Given the description of an element on the screen output the (x, y) to click on. 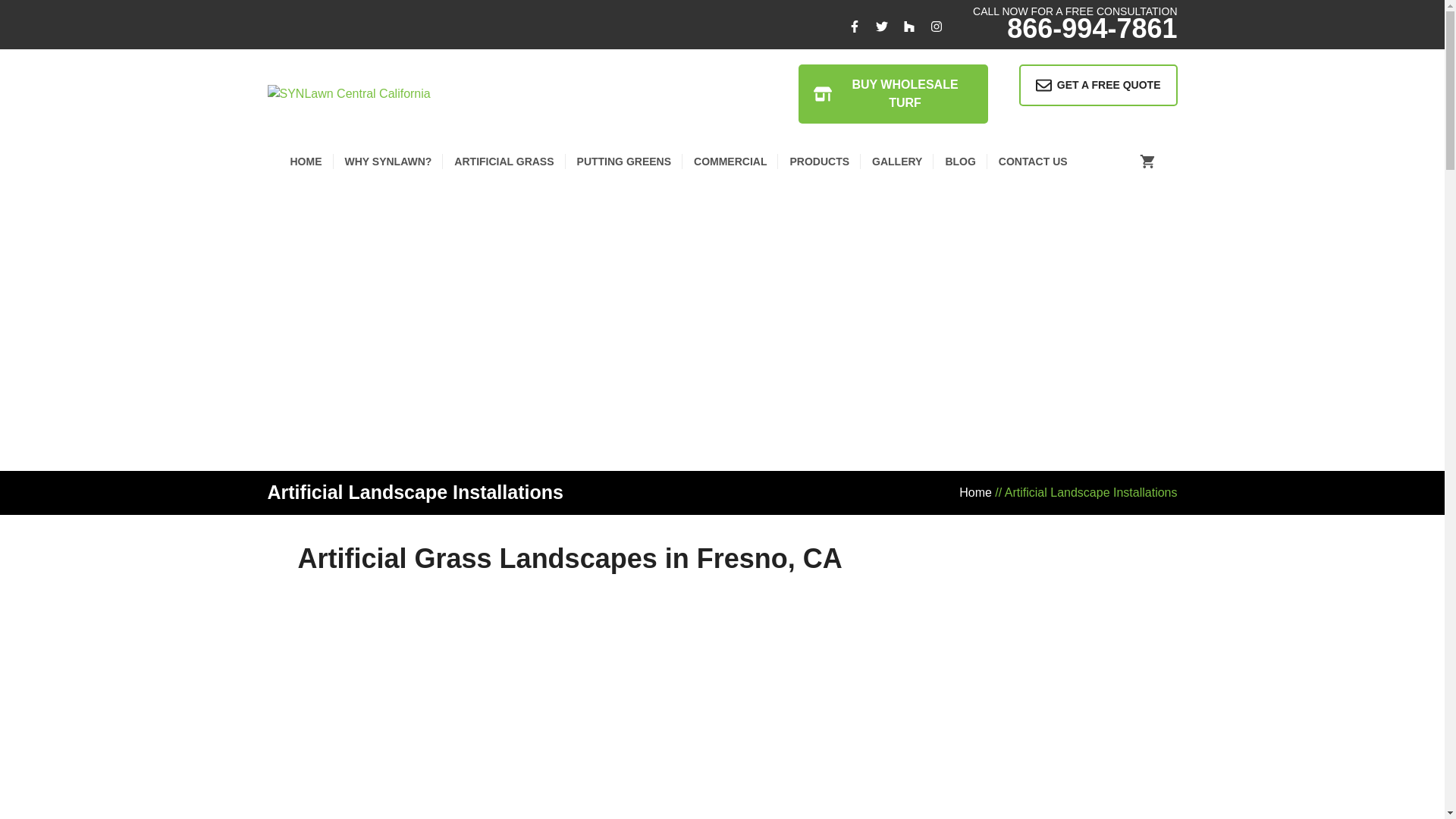
GET A FREE QUOTE (1098, 85)
866-994-7861 (1091, 28)
BUY WHOLESALE TURF (892, 93)
